Given the description of an element on the screen output the (x, y) to click on. 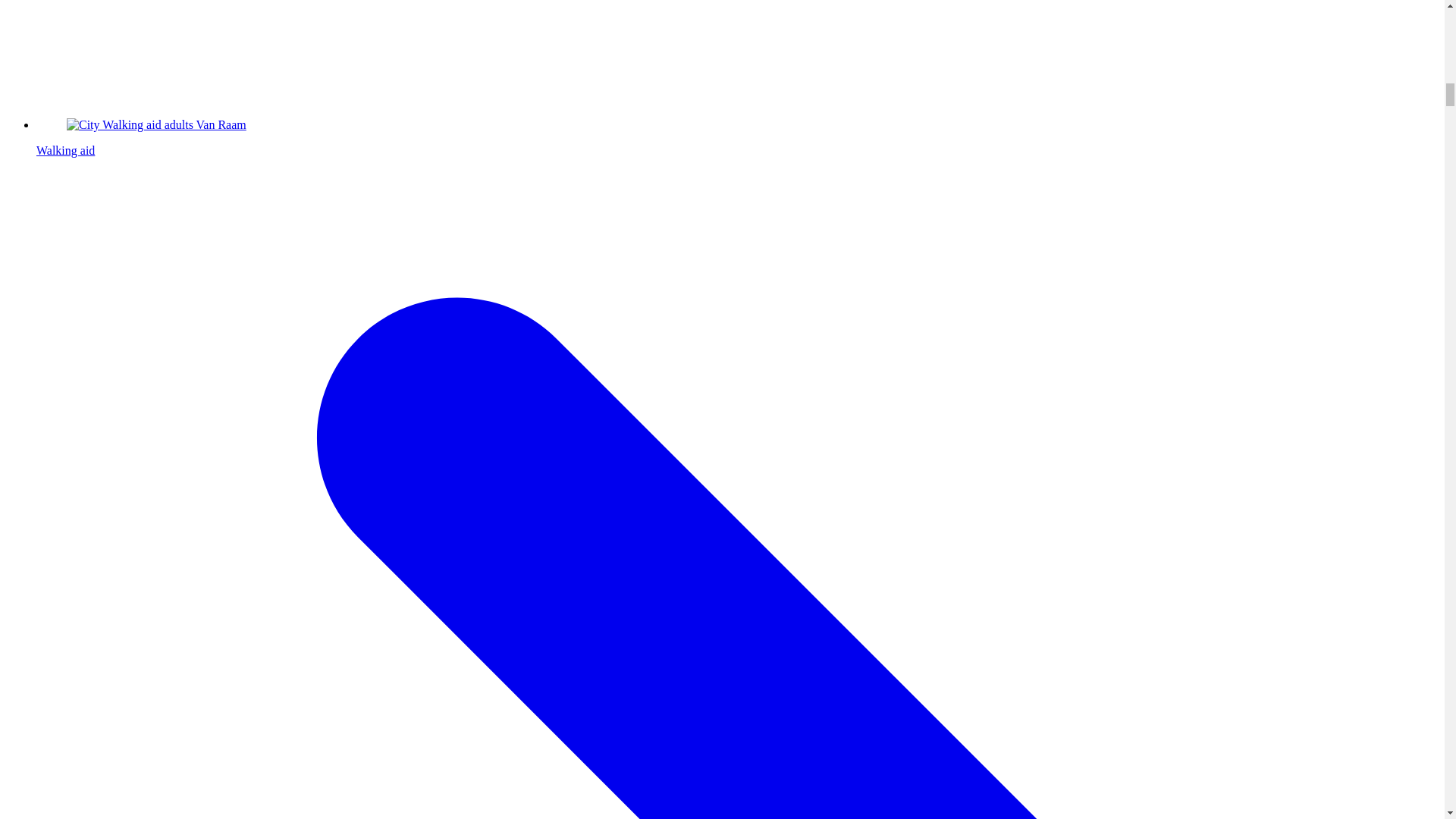
City Walking aid adults Van Raam (156, 124)
